Given the description of an element on the screen output the (x, y) to click on. 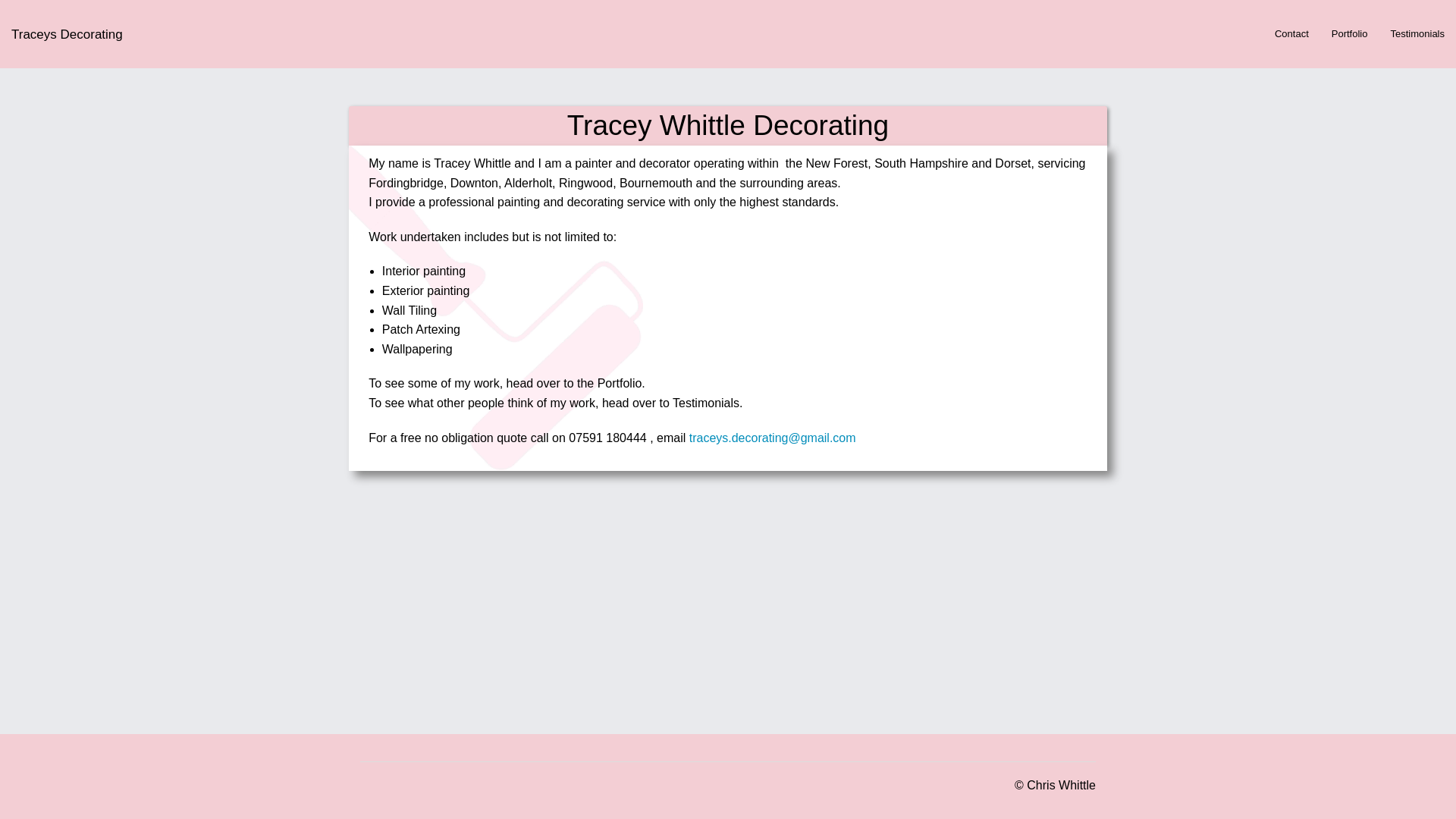
HomeLink (66, 33)
Chris Whittle (1061, 784)
CreatorLink (1061, 784)
Traceys Decorating (66, 33)
